Given the description of an element on the screen output the (x, y) to click on. 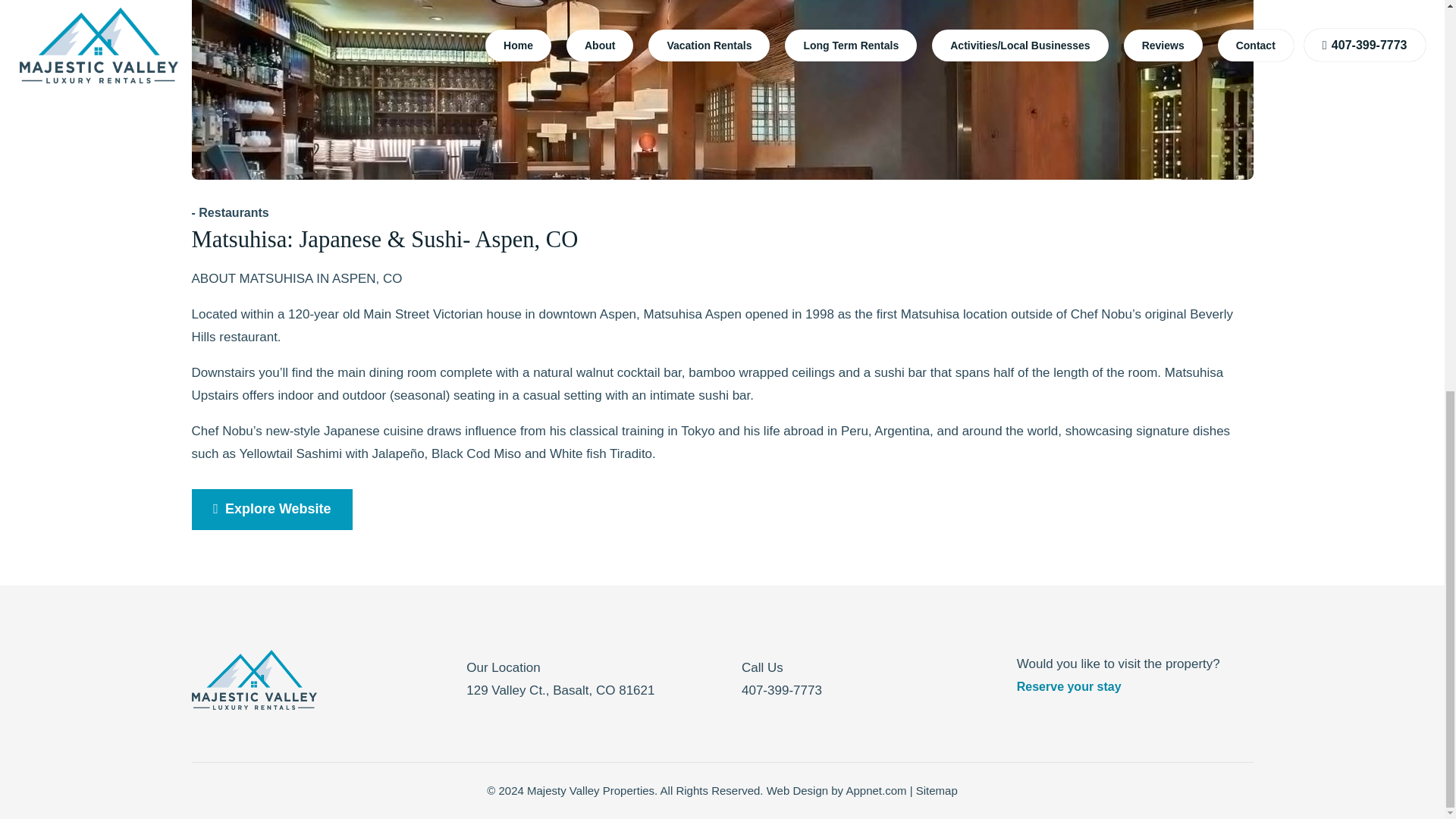
407-399-7773 (781, 690)
Sitemap (936, 789)
Explore Website (271, 508)
Appnet.com (875, 789)
Reserve your stay (1068, 686)
Back to top (1413, 98)
